Given the description of an element on the screen output the (x, y) to click on. 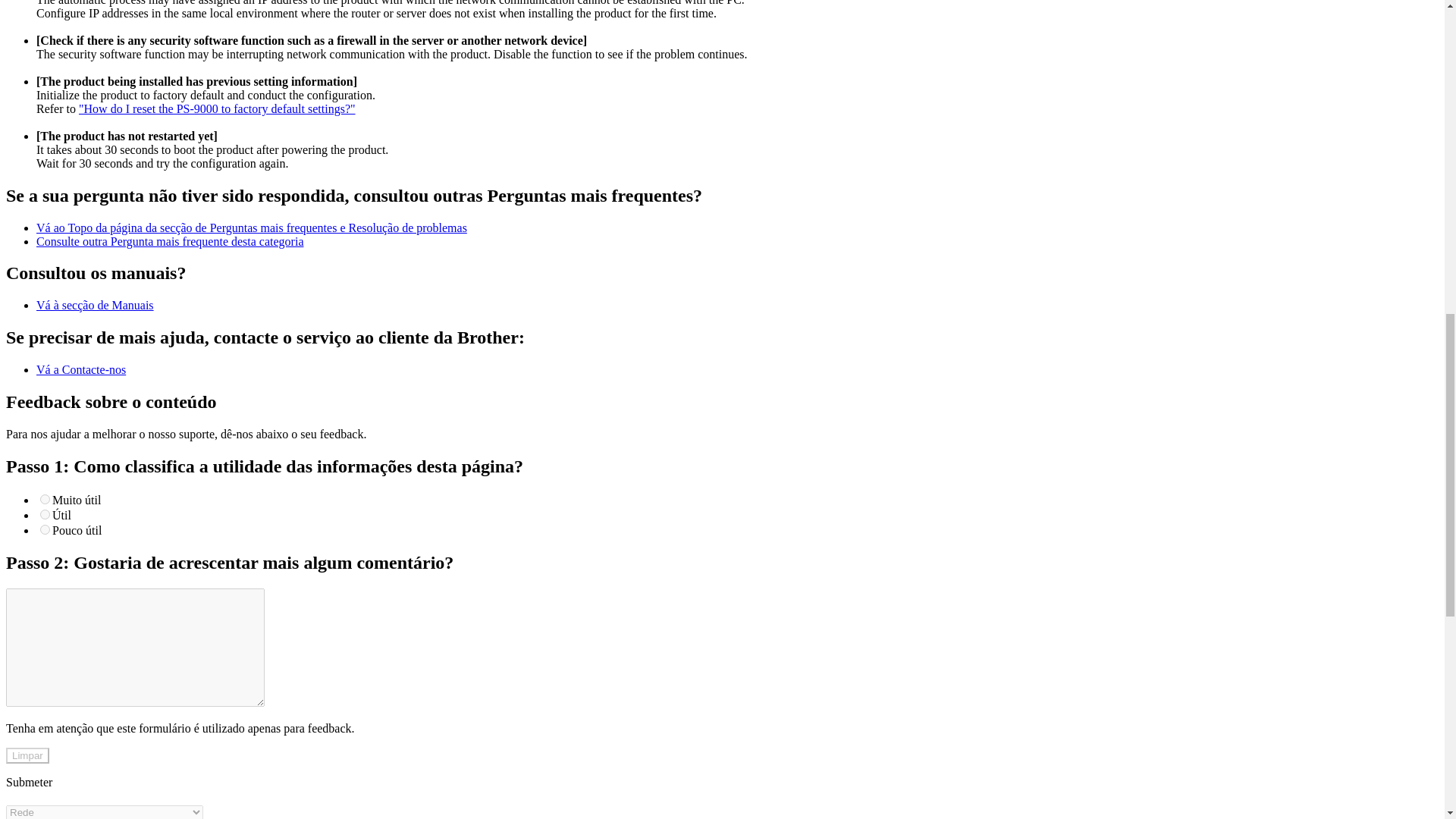
Submeter (28, 781)
Consulte outra Pergunta mais frequente desta categoria (169, 241)
very helpful (44, 499)
not helpful (44, 529)
helpful (44, 514)
Limpar (27, 755)
"How do I reset the PS-9000 to factory default settings?" (216, 108)
